Given the description of an element on the screen output the (x, y) to click on. 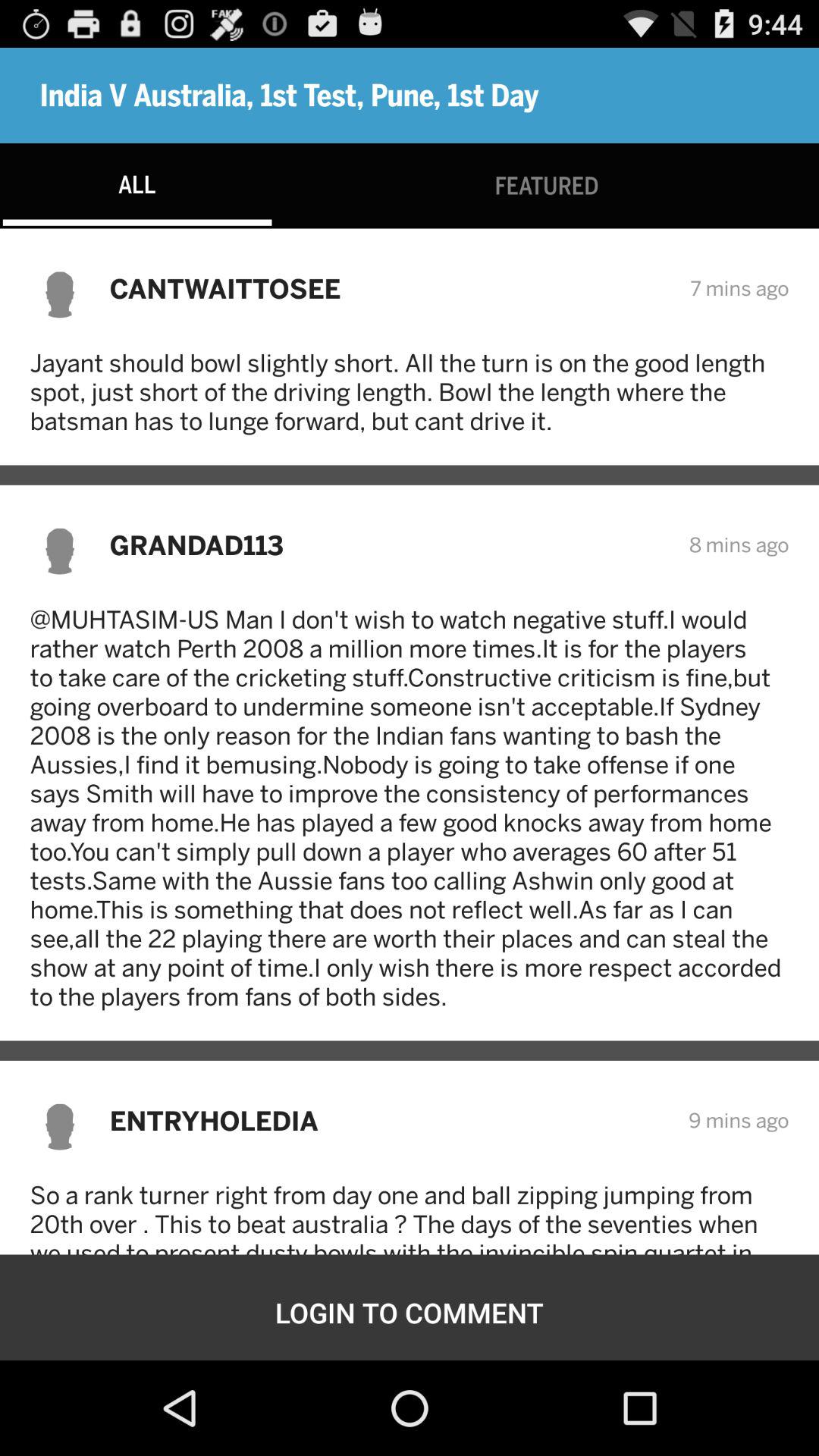
turn on the featured icon (546, 185)
